Given the description of an element on the screen output the (x, y) to click on. 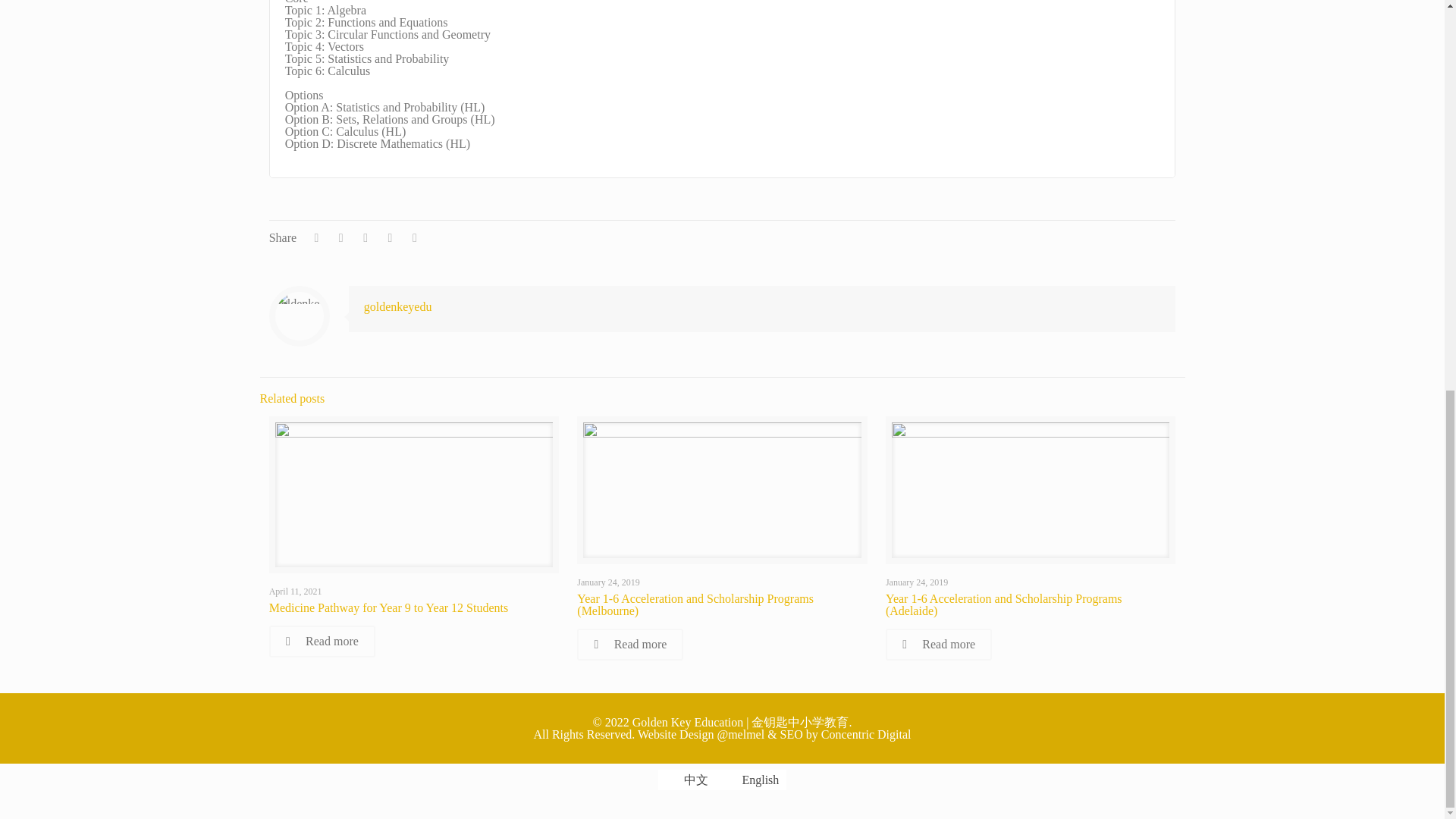
goldenkeyedu (398, 306)
Medicine Pathway for Year 9 to Year 12 Students (388, 607)
English (729, 779)
Read more (322, 641)
Read more (629, 644)
